Given the description of an element on the screen output the (x, y) to click on. 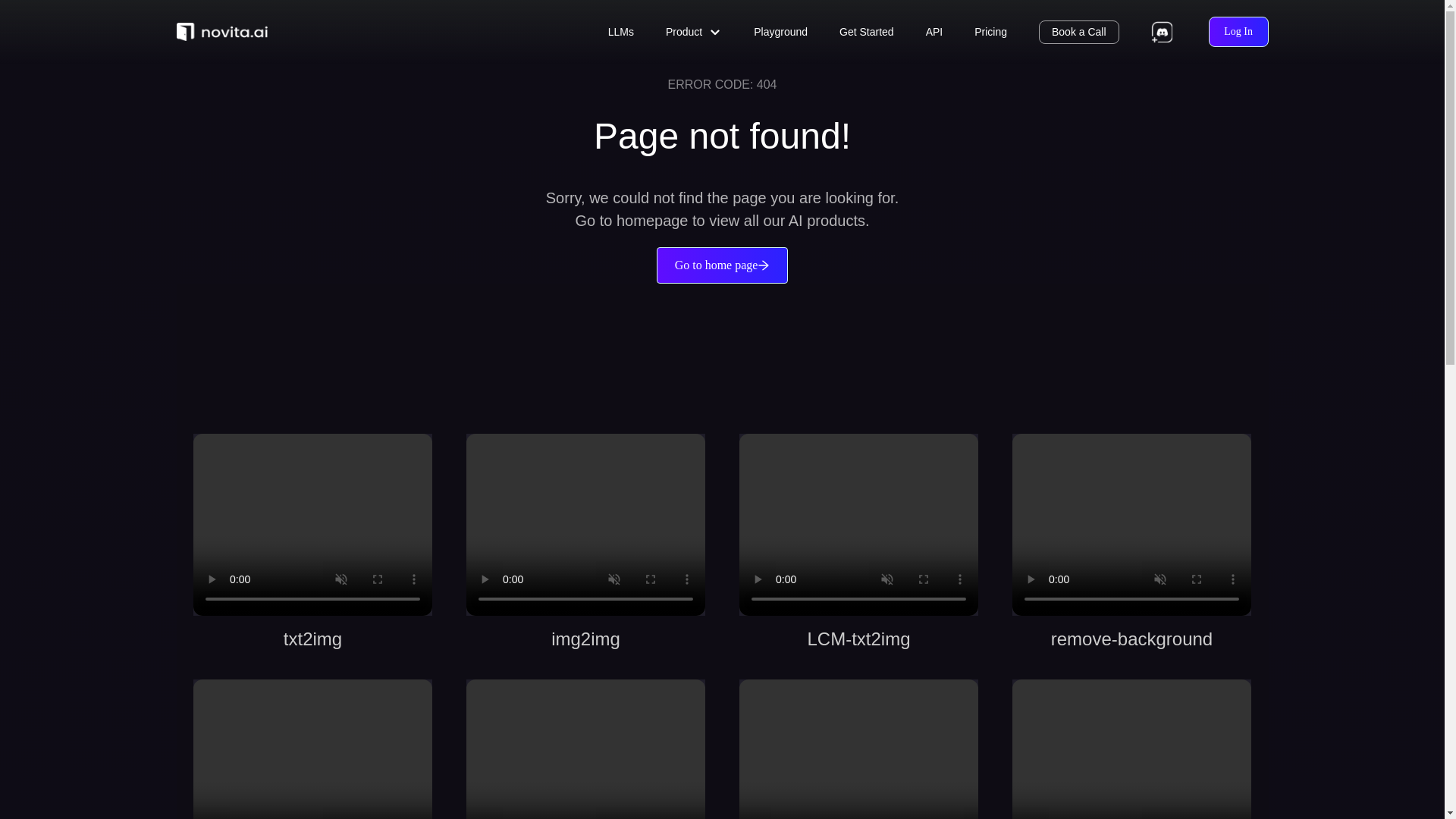
Playground (781, 32)
LLMs (620, 32)
Get Started (866, 32)
API (934, 32)
